Given the description of an element on the screen output the (x, y) to click on. 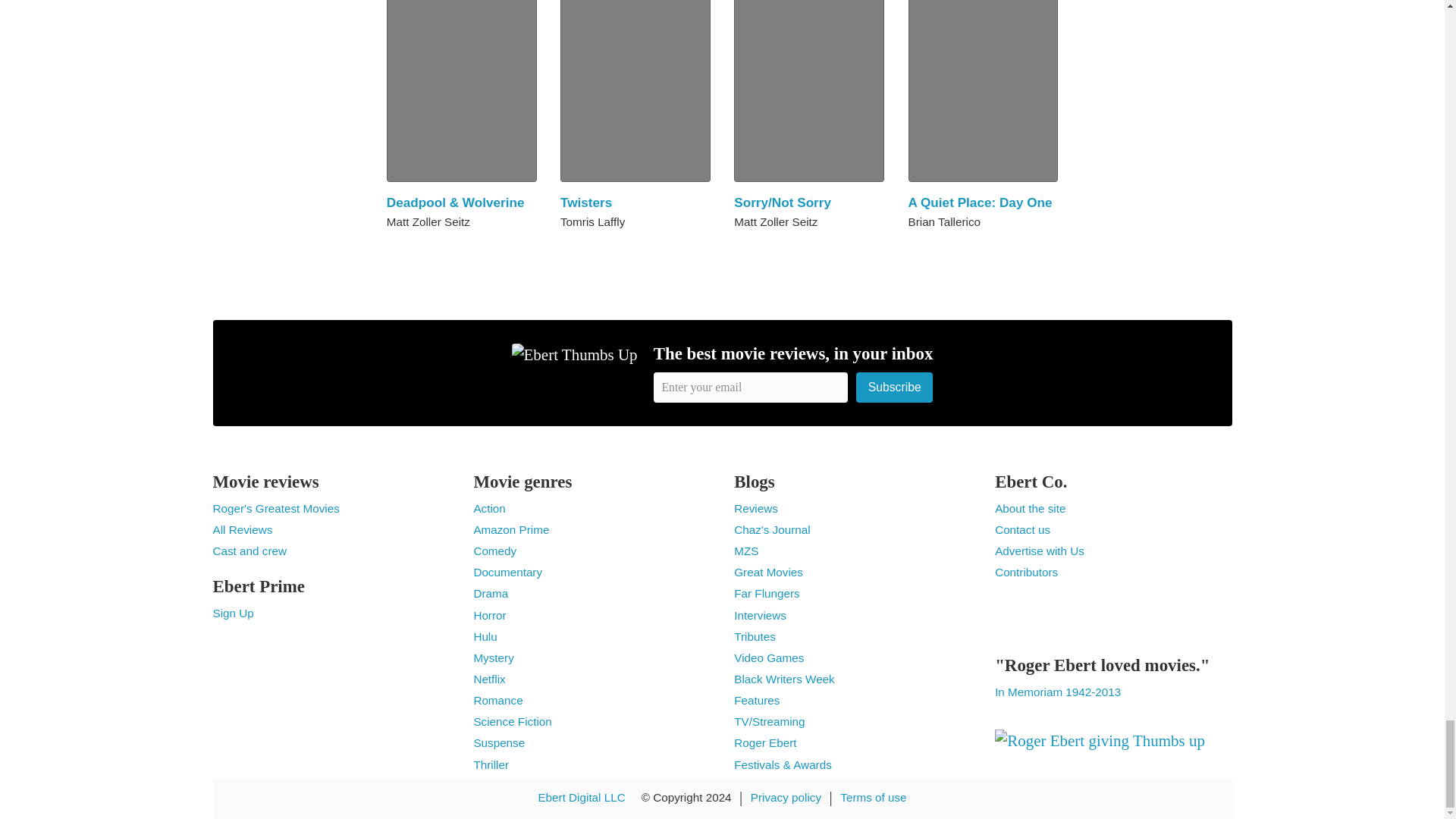
Subscribe (894, 387)
